Given the description of an element on the screen output the (x, y) to click on. 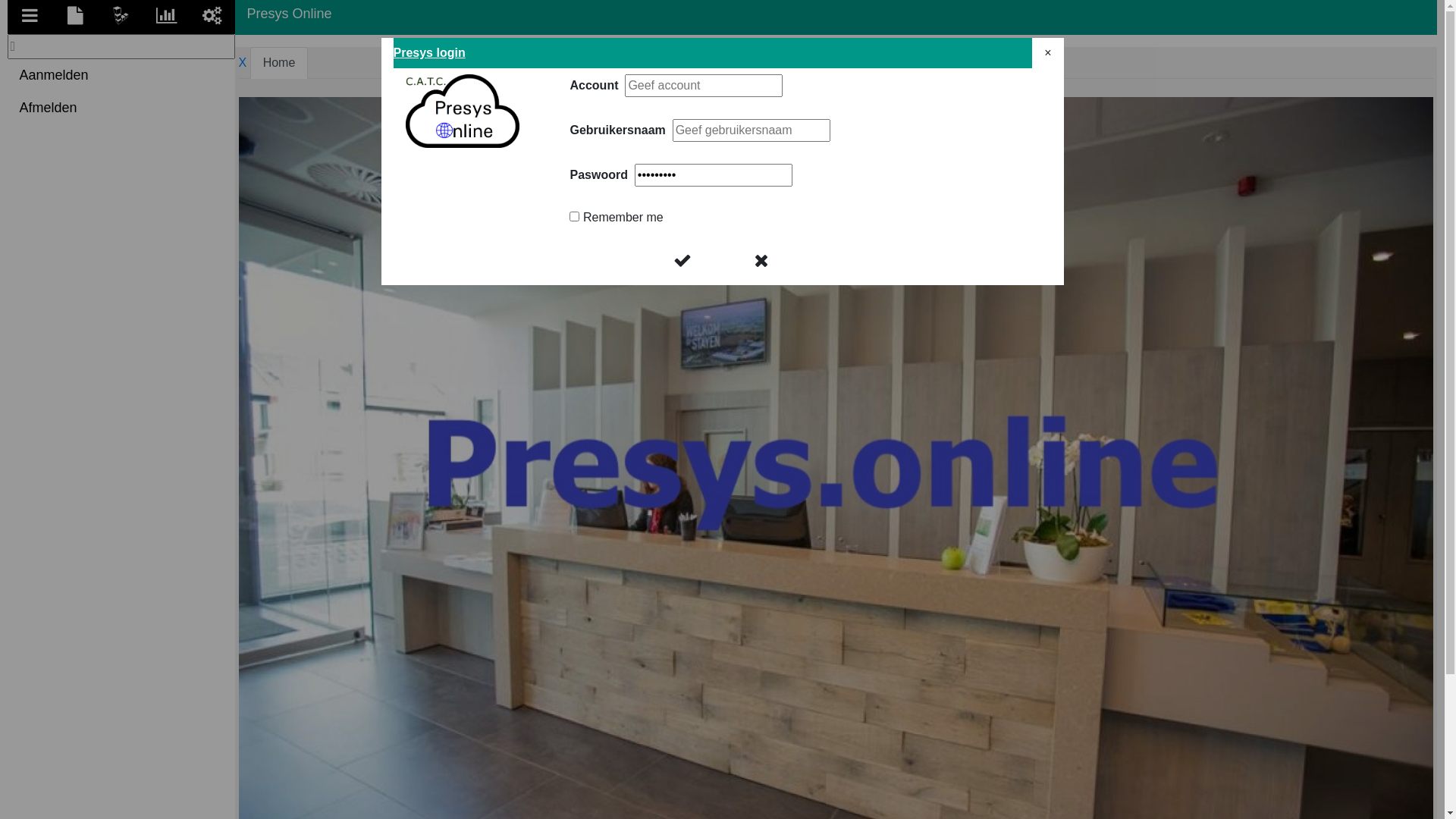
X Element type: text (242, 62)
Afmelden Element type: text (121, 107)
Home Element type: text (279, 62)
Aanmelden Element type: text (121, 75)
